Given the description of an element on the screen output the (x, y) to click on. 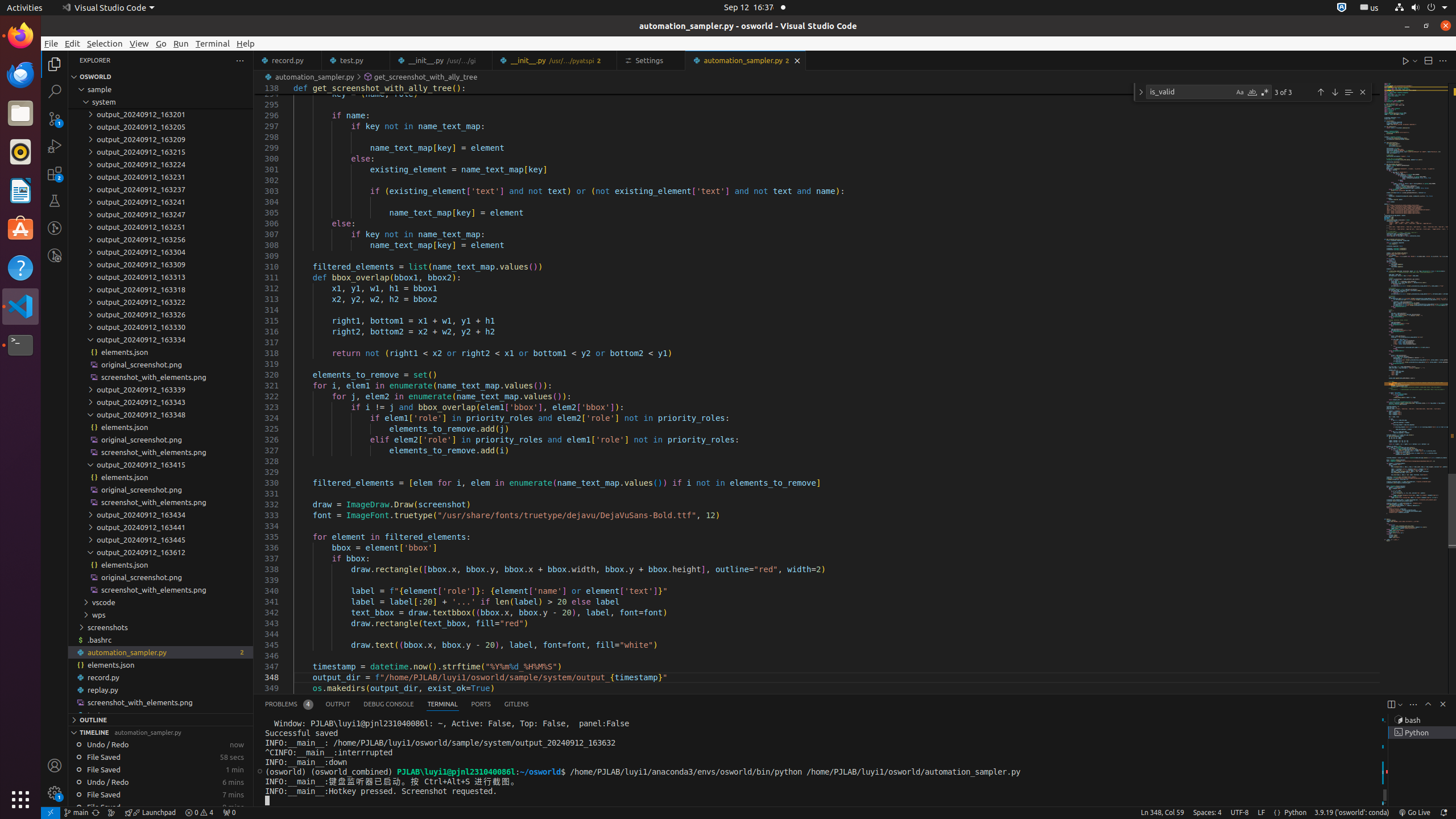
Go Element type: push-button (161, 43)
Firefox Web Browser Element type: push-button (20, 35)
output_20240912_163334 Element type: tree-item (160, 339)
sample Element type: tree-item (160, 89)
Testing Element type: page-tab (54, 200)
